Given the description of an element on the screen output the (x, y) to click on. 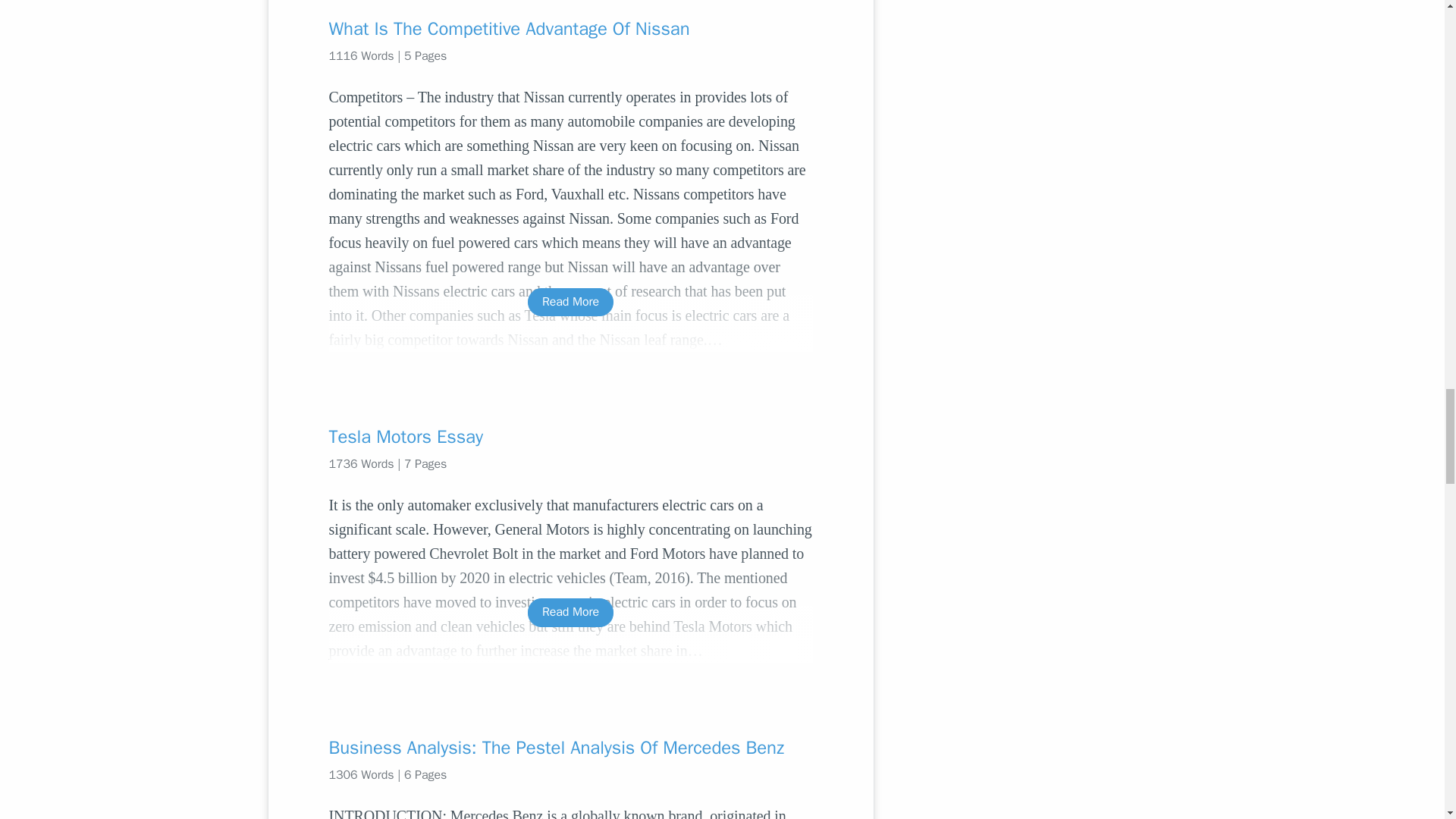
What Is The Competitive Advantage Of Nissan (570, 28)
Read More (569, 302)
Tesla Motors Essay (570, 436)
Read More (569, 612)
Business Analysis: The Pestel Analysis Of Mercedes Benz (570, 747)
